Given the description of an element on the screen output the (x, y) to click on. 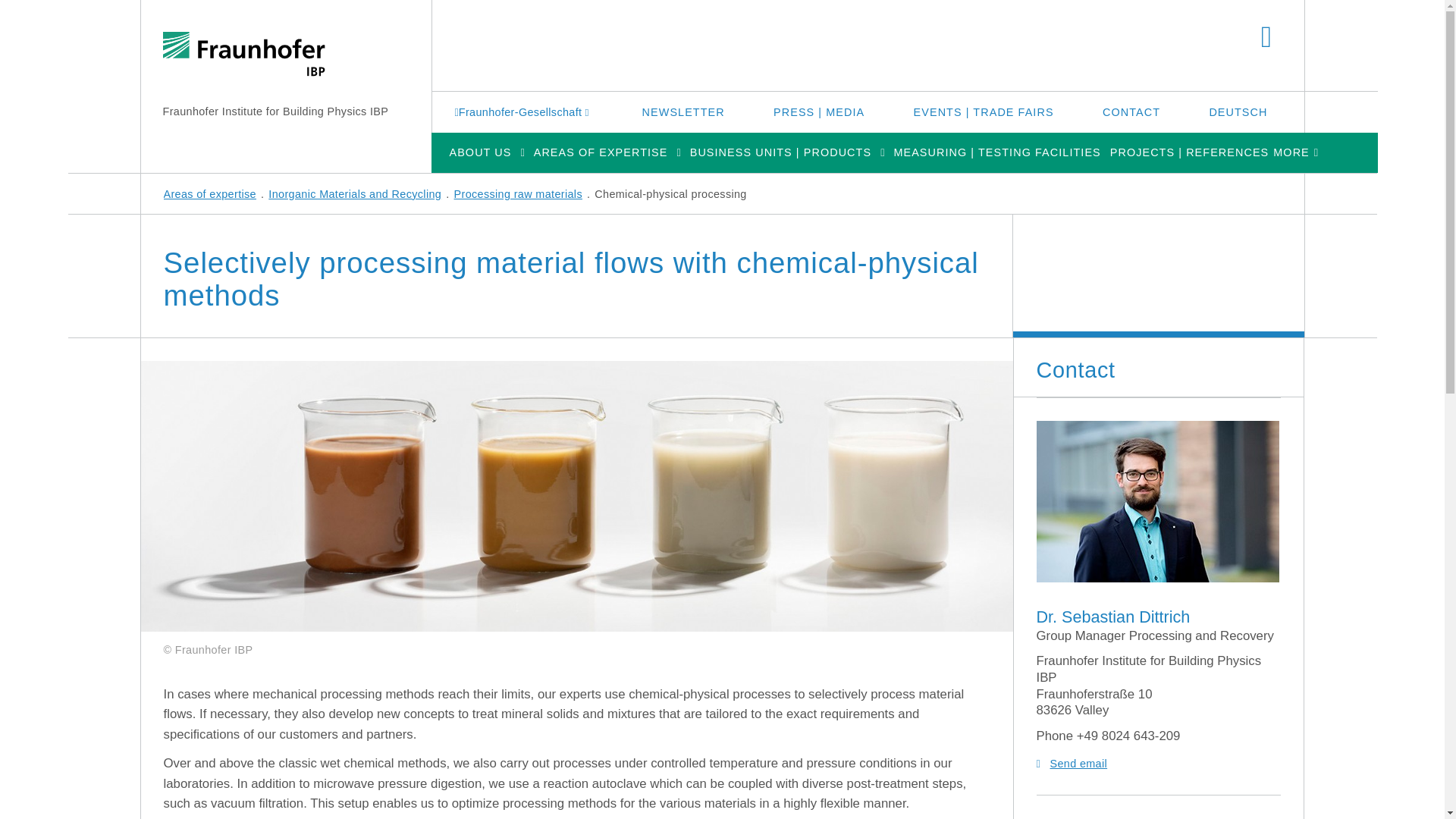
Fraunhofer Institute for Building Physics IBP (274, 111)
SEARCH (1266, 37)
ABOUT US (479, 151)
DEUTSCH (1238, 111)
Fraunhofer-Gesellschaft (523, 111)
NEWSLETTER (684, 111)
CONTACT (1131, 111)
Sebastian Dittrich (1156, 501)
AREAS OF EXPERTISE (600, 151)
